Given the description of an element on the screen output the (x, y) to click on. 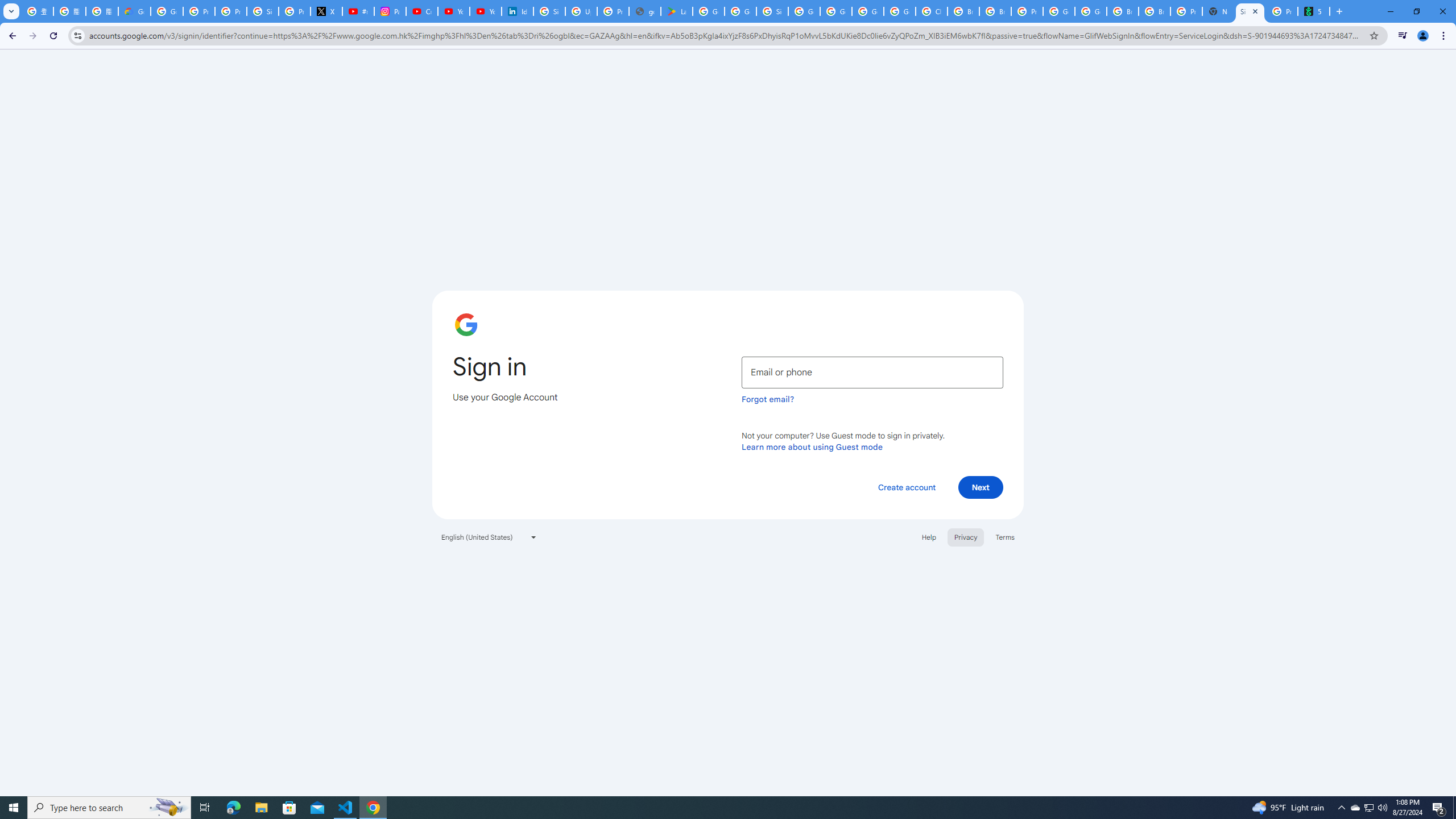
Google Cloud Platform (1091, 11)
Last Shelter: Survival - Apps on Google Play (676, 11)
Learn more about using Guest mode (812, 446)
Forgot email? (767, 398)
Sign in - Google Accounts (1249, 11)
Sign in - Google Accounts (549, 11)
